Given the description of an element on the screen output the (x, y) to click on. 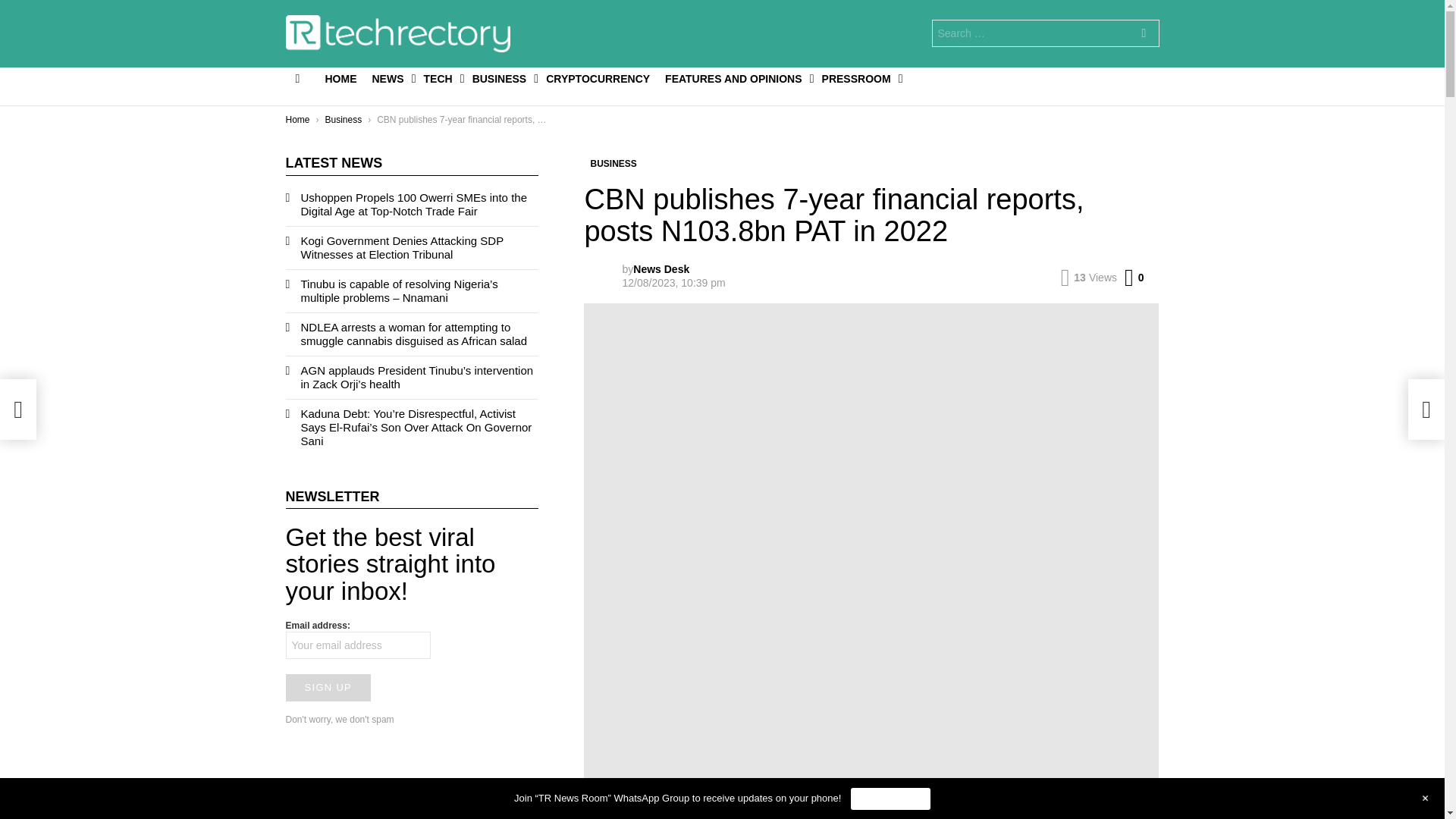
CRYPTOCURRENCY (598, 78)
SEARCH (1143, 34)
HOME (340, 78)
Sign up (328, 687)
FEATURES AND OPINIONS (735, 78)
TECH (439, 78)
Search for: (1044, 32)
NEWS (389, 78)
Menu (296, 78)
BUSINESS (501, 78)
